Given the description of an element on the screen output the (x, y) to click on. 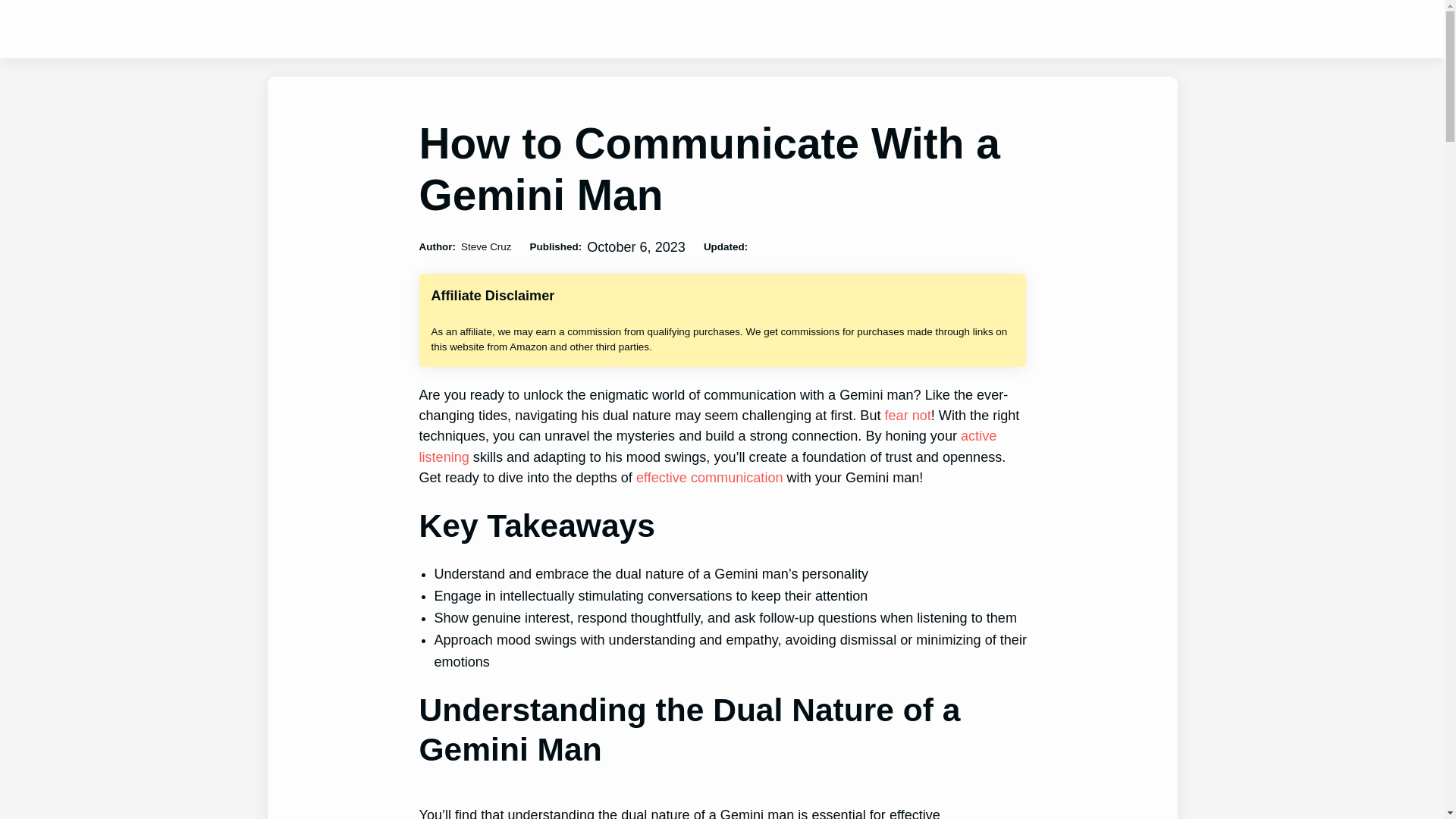
effective communication (709, 477)
effective communication (709, 477)
active listening (707, 446)
fear not (908, 415)
fear not (908, 415)
active listening (707, 446)
